Given the description of an element on the screen output the (x, y) to click on. 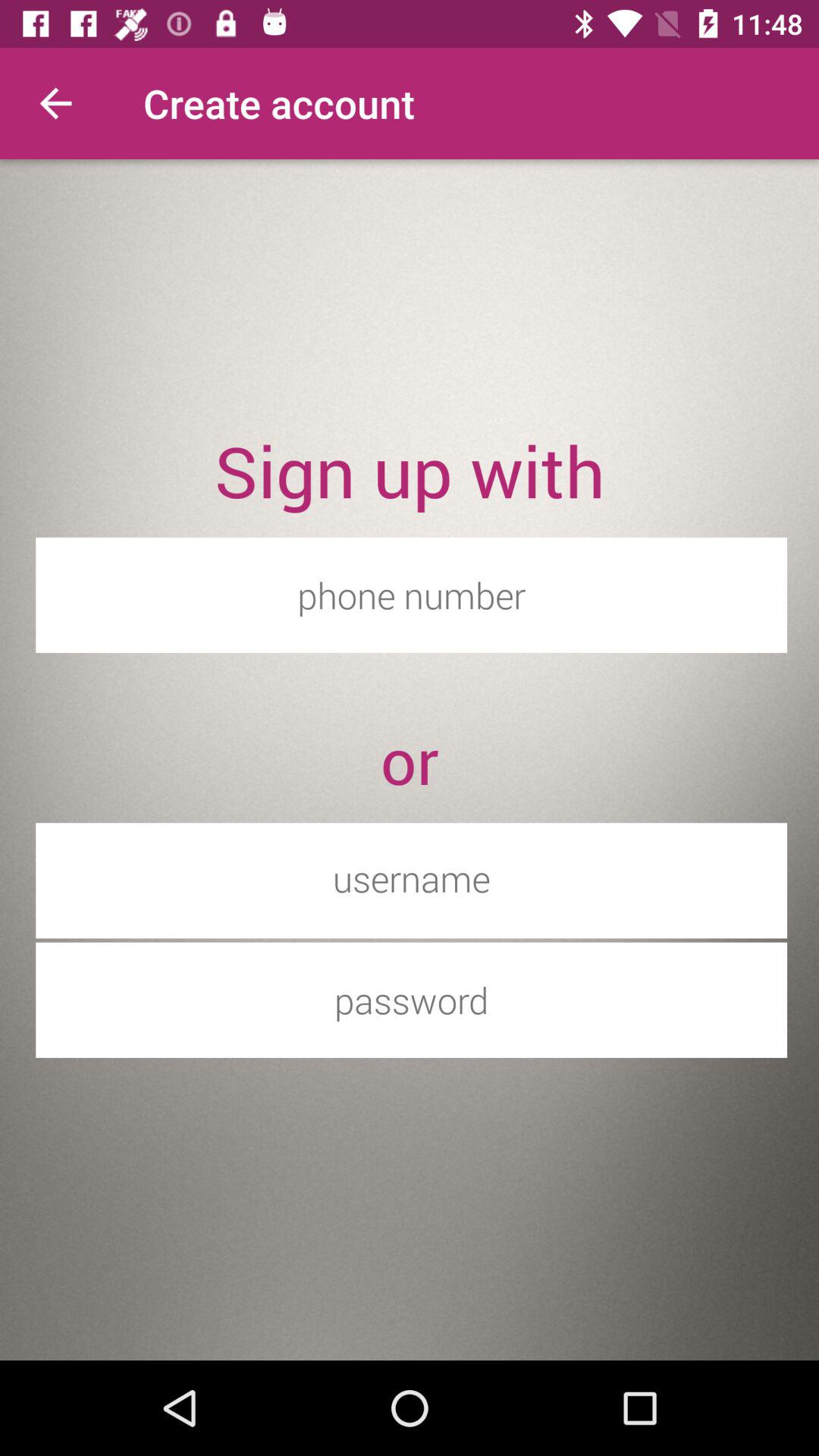
sign in with username (411, 878)
